Given the description of an element on the screen output the (x, y) to click on. 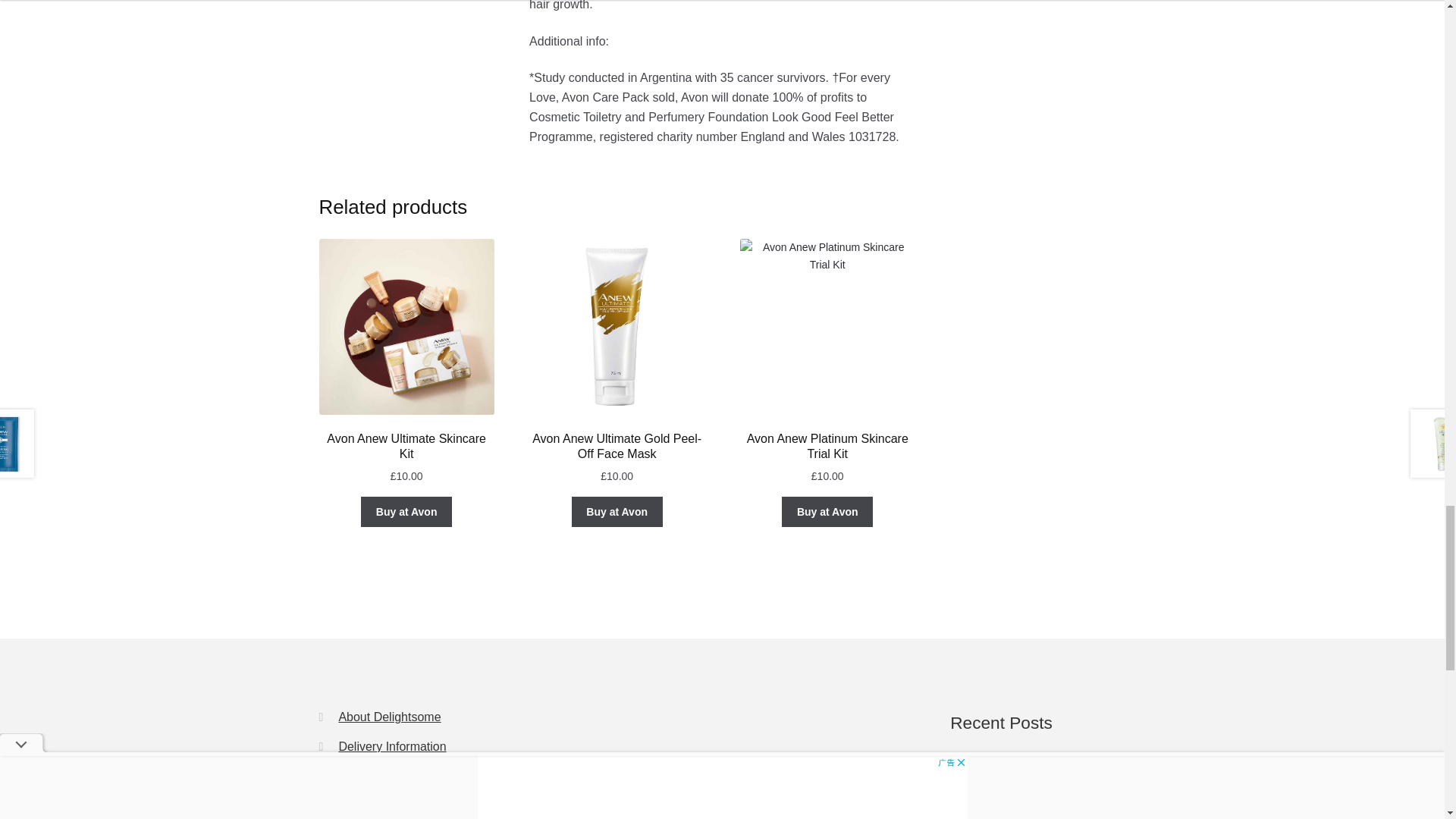
Buy at Avon (406, 511)
Buy at Avon (617, 511)
